Given the description of an element on the screen output the (x, y) to click on. 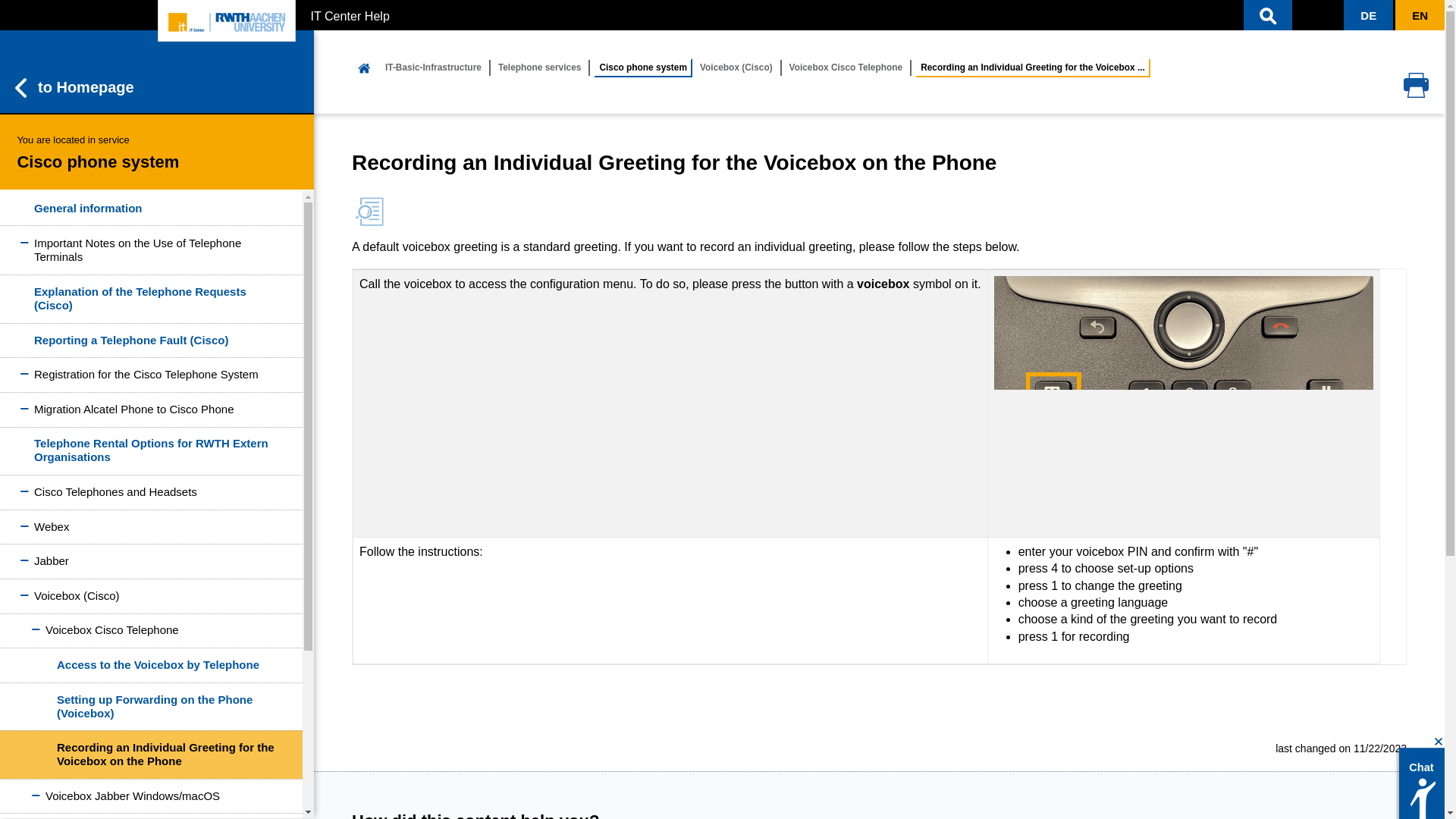
DE (1368, 15)
General information (151, 208)
Detailinformation (369, 211)
Telephone Rental Options for RWTH Extern Organisations (151, 450)
to Homepage (157, 71)
